Given the description of an element on the screen output the (x, y) to click on. 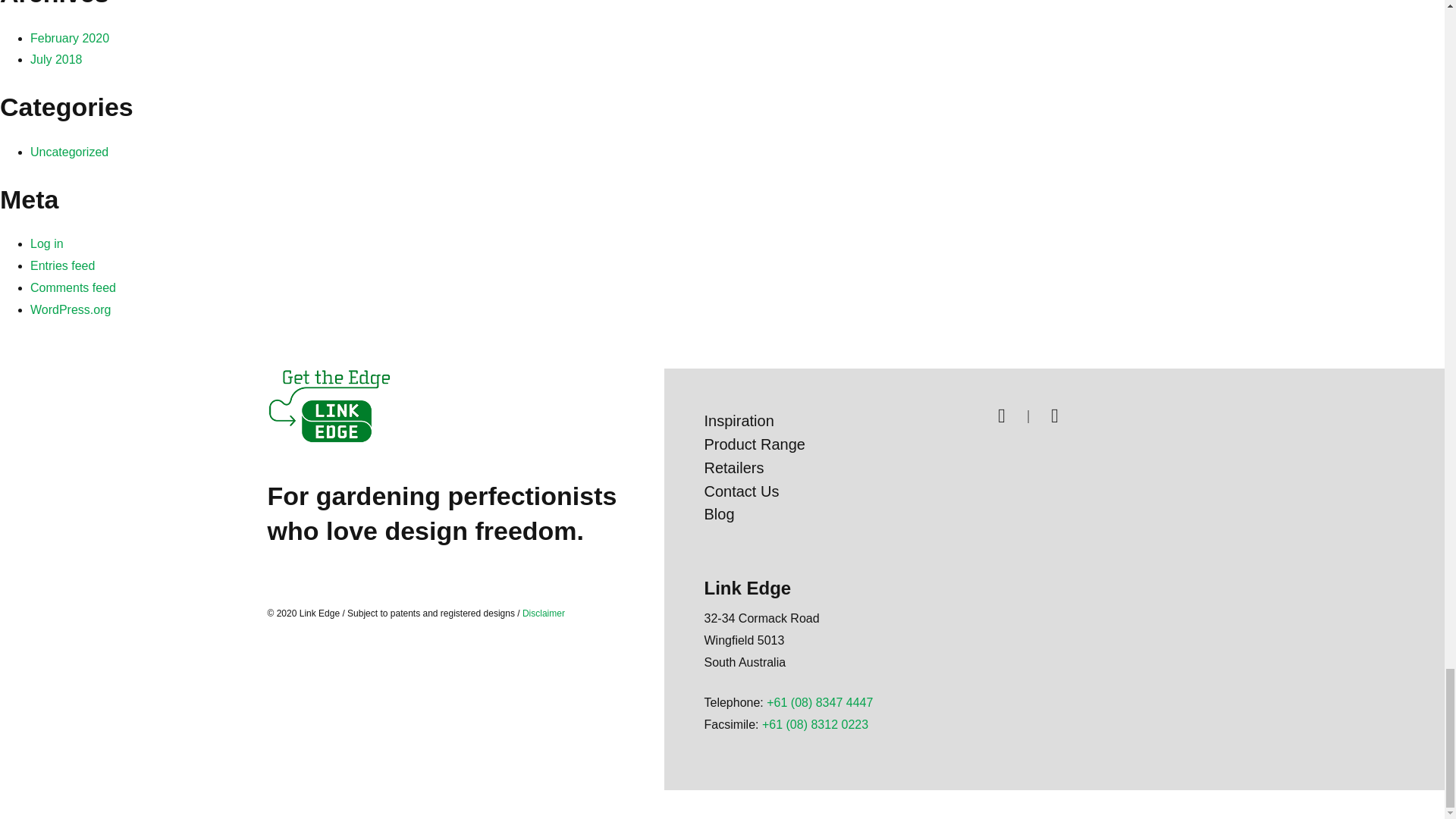
February 2020 (69, 38)
Uncategorized (68, 151)
Log in (47, 243)
Blog (718, 514)
WordPress.org (70, 309)
July 2018 (56, 59)
Contact Us (740, 491)
Comments feed (73, 287)
Product Range (754, 443)
Disclaimer (541, 613)
